Given the description of an element on the screen output the (x, y) to click on. 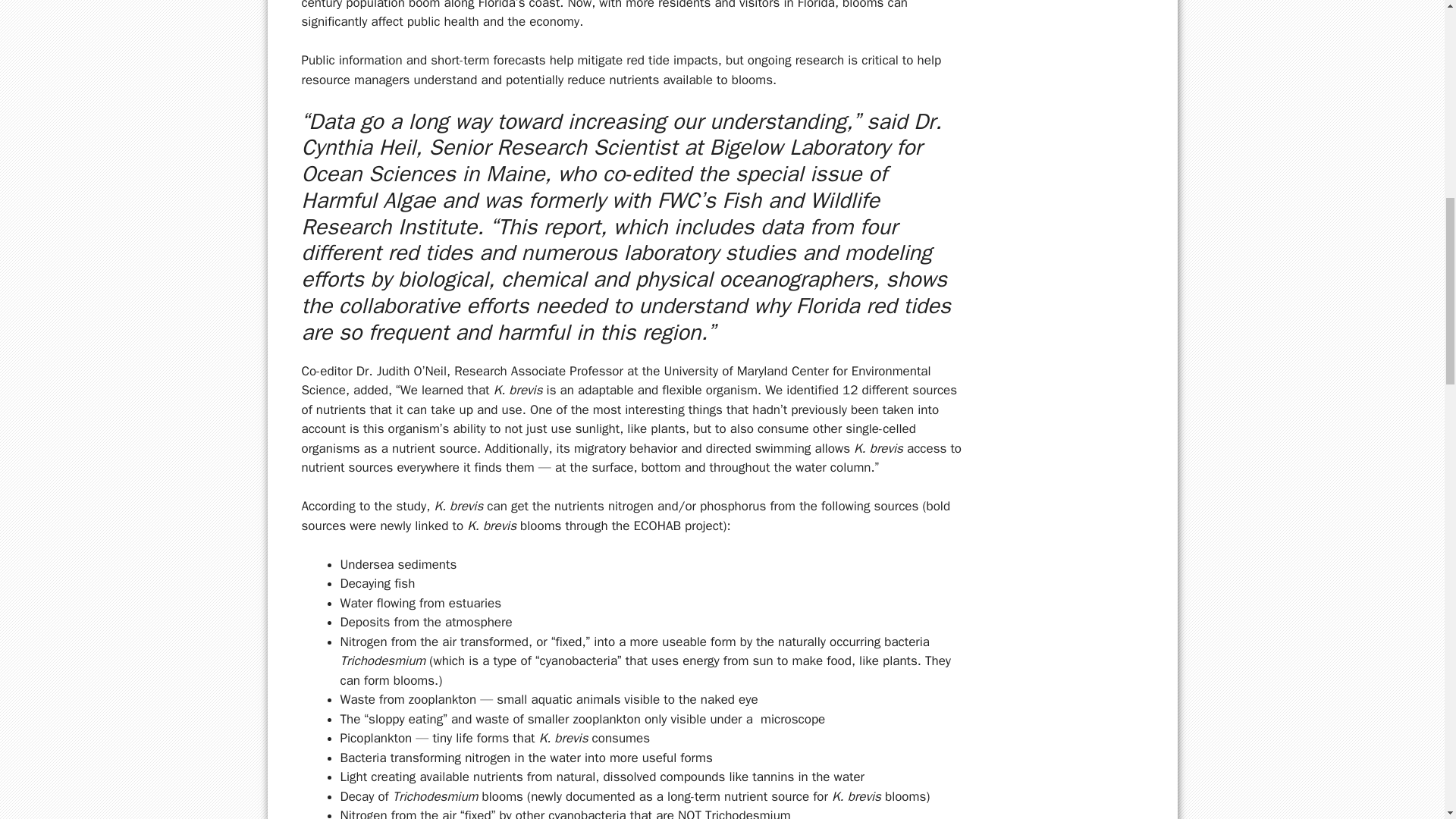
Scroll back to top (1406, 720)
